Given the description of an element on the screen output the (x, y) to click on. 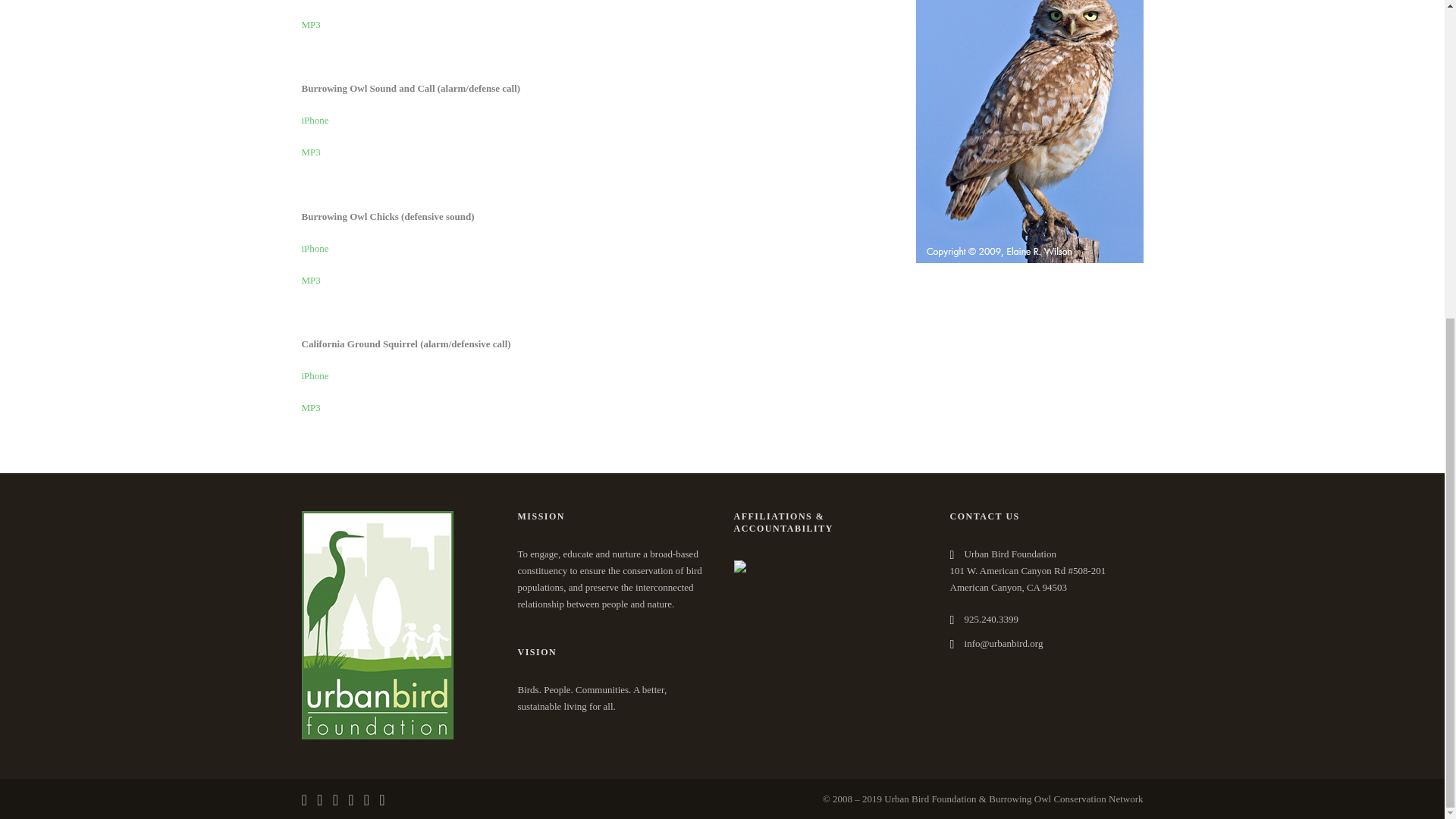
MP3 (310, 152)
MP3 (310, 24)
iPhone (315, 120)
